Given the description of an element on the screen output the (x, y) to click on. 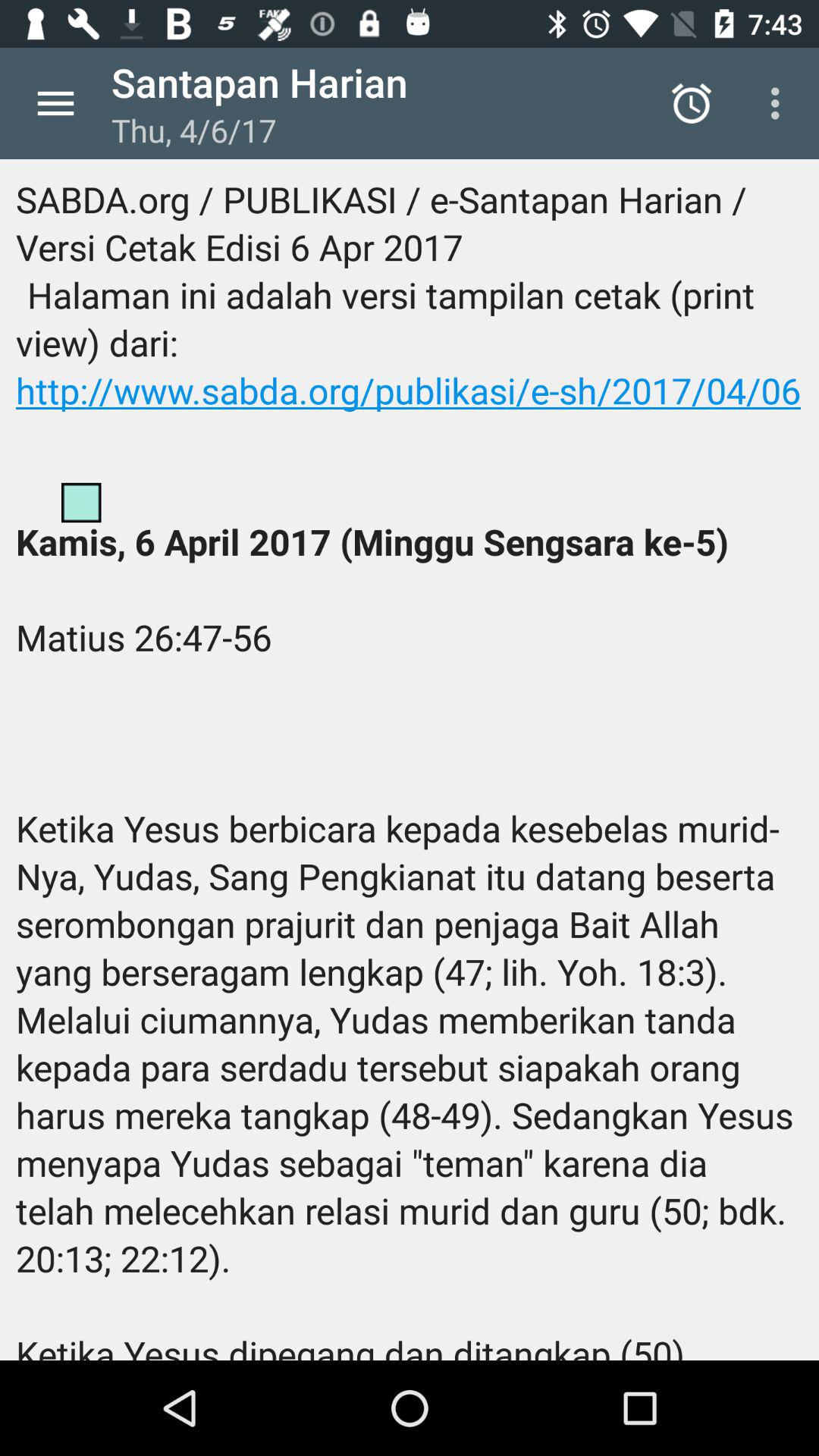
select icon next to the santapan harian (55, 103)
